Given the description of an element on the screen output the (x, y) to click on. 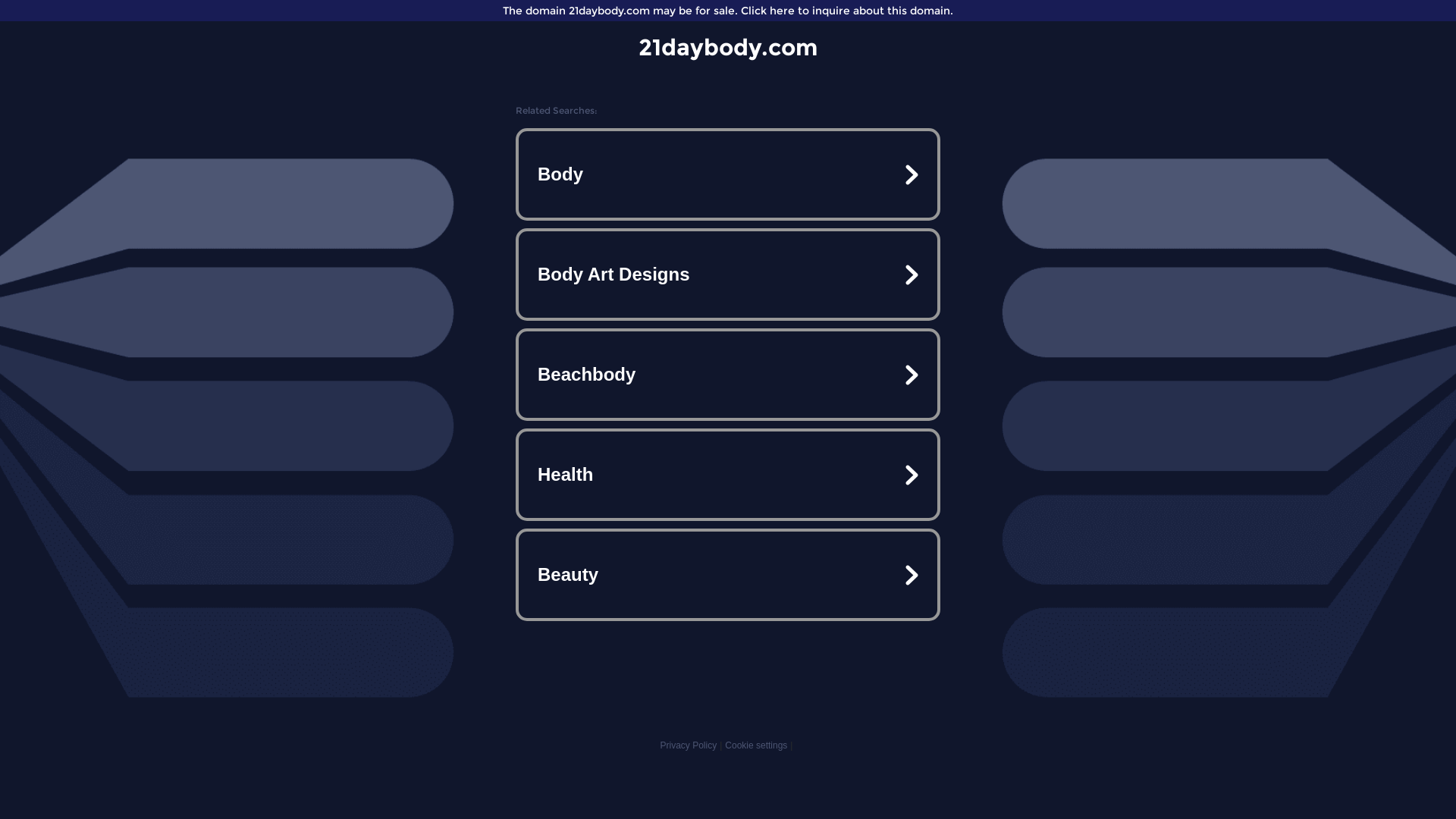
Beauty Element type: text (727, 574)
Beachbody Element type: text (727, 374)
Body Element type: text (727, 174)
Body Art Designs Element type: text (727, 274)
Health Element type: text (727, 474)
Privacy Policy Element type: text (687, 745)
Cookie settings Element type: text (755, 745)
21daybody.com Element type: text (727, 47)
